Given the description of an element on the screen output the (x, y) to click on. 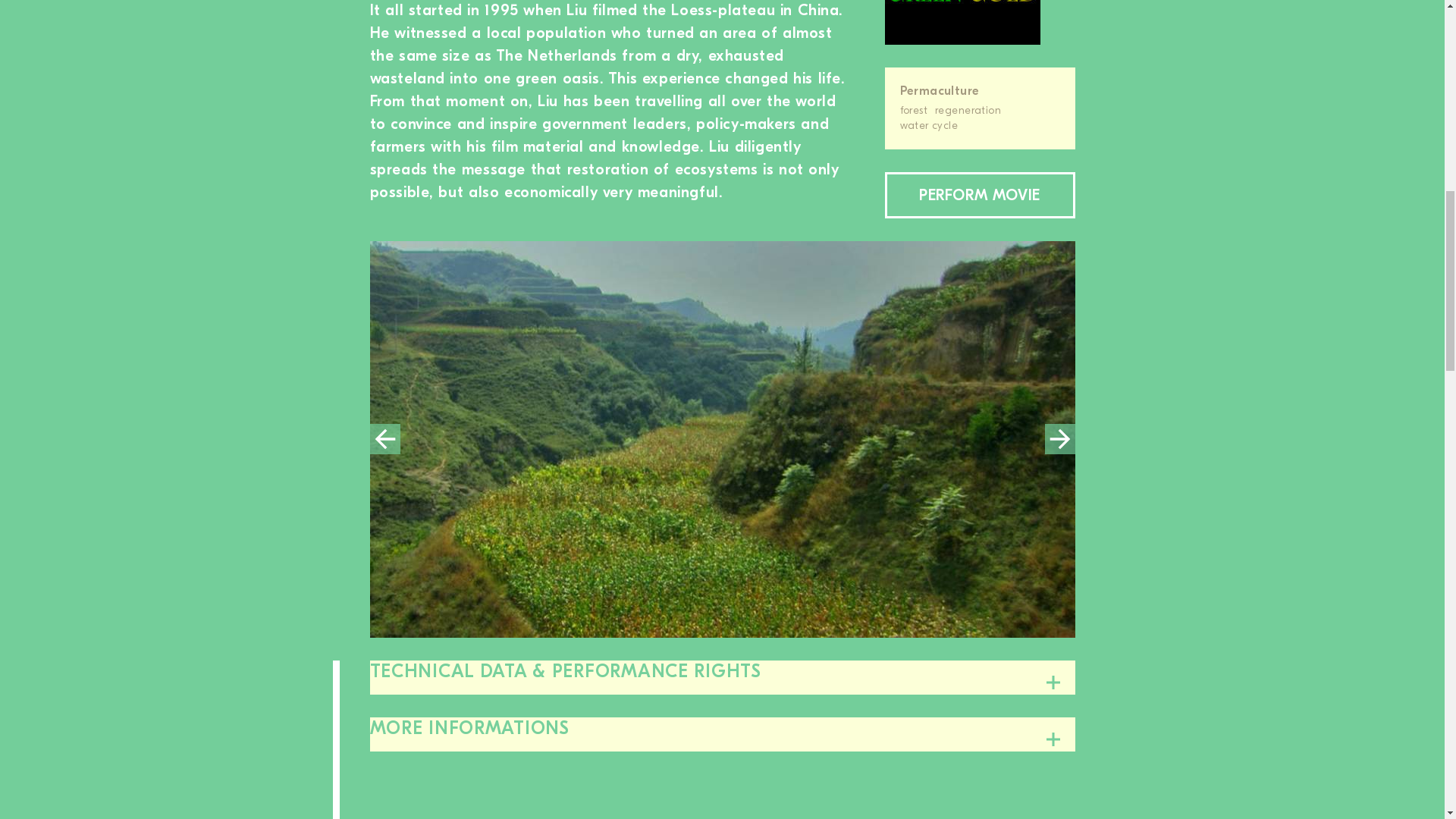
PERFORM MOVIE (978, 194)
Permaculture (979, 90)
